Given the description of an element on the screen output the (x, y) to click on. 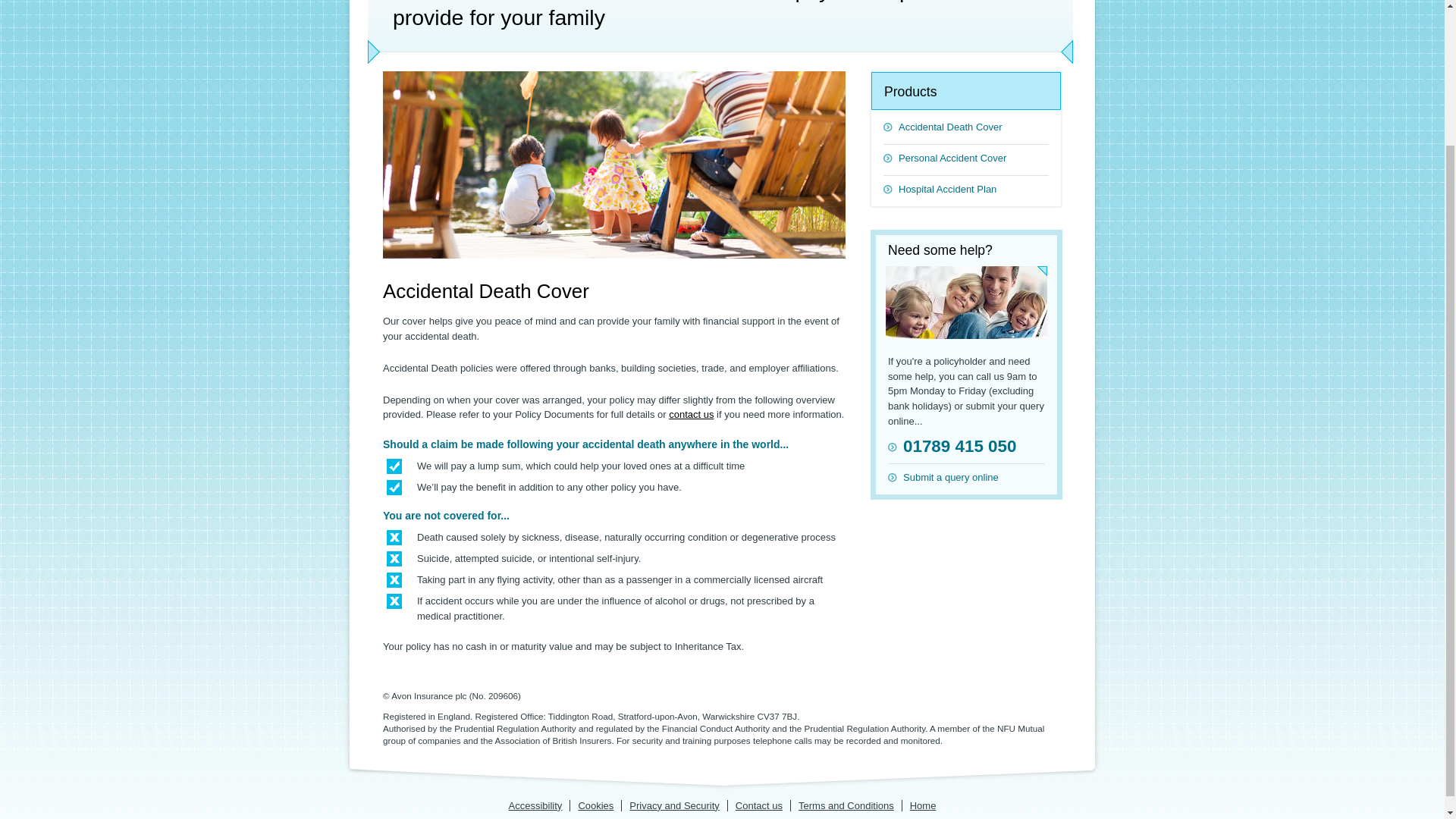
Accessibility (535, 805)
Home (922, 805)
Privacy and Security (673, 805)
Hospital Accident Plan (965, 184)
Contact us (758, 805)
Submit a query online (966, 473)
Cookies (595, 805)
Terms and Conditions (845, 805)
contact us (690, 414)
Contact us (758, 805)
